Given the description of an element on the screen output the (x, y) to click on. 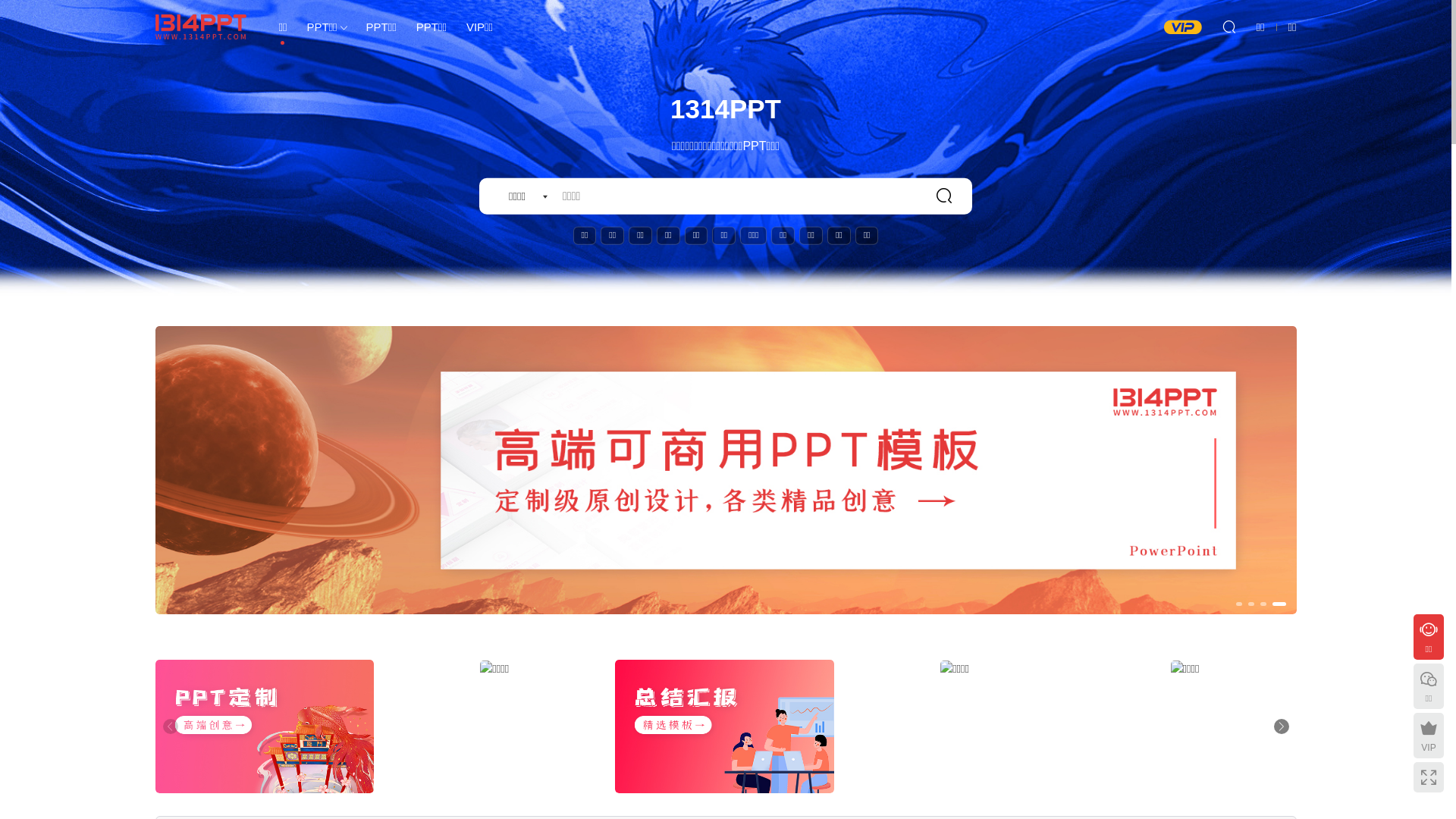
VIP Element type: text (1428, 735)
